Given the description of an element on the screen output the (x, y) to click on. 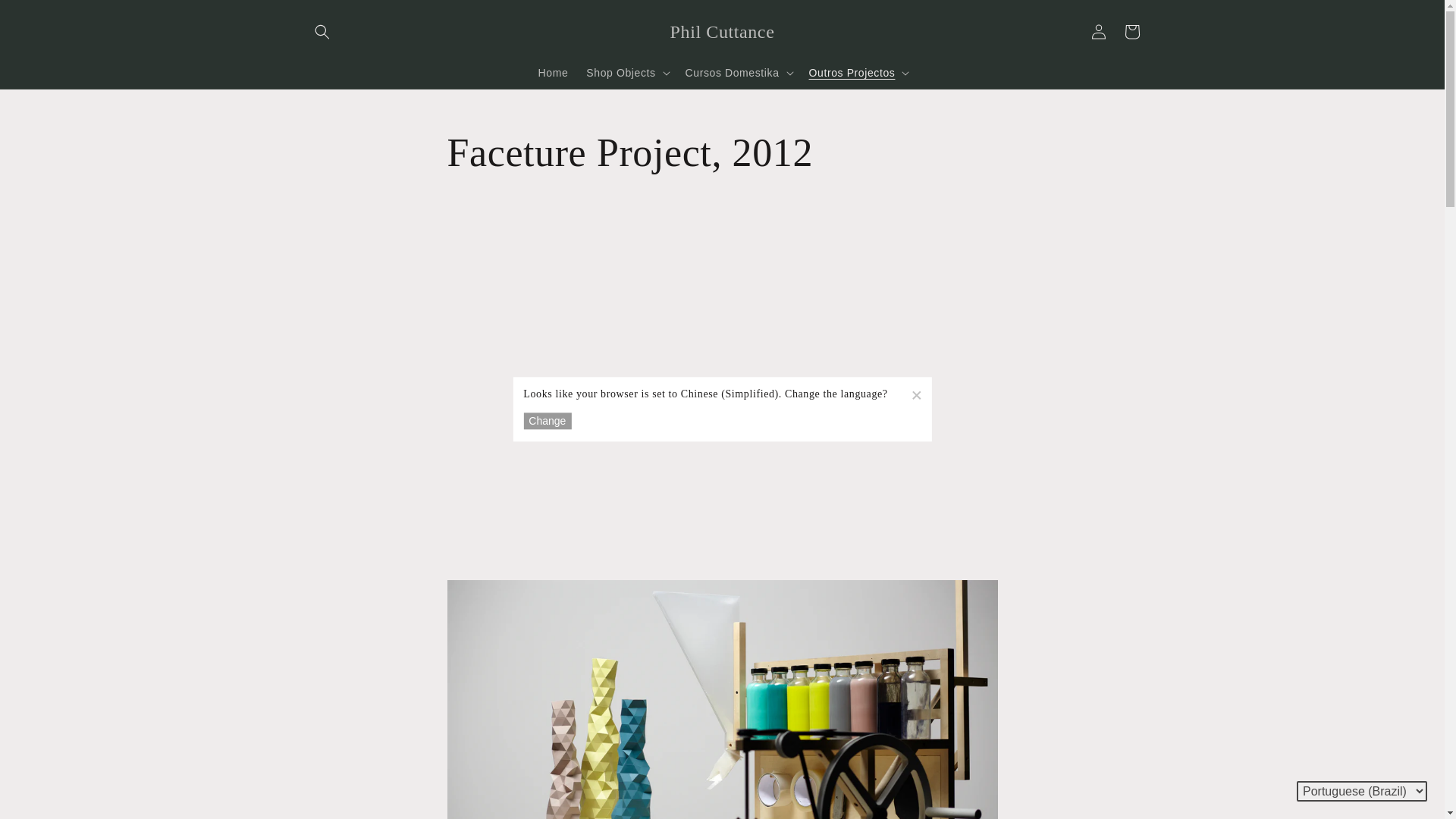
Phil Cuttance (721, 30)
Home (553, 71)
